Given the description of an element on the screen output the (x, y) to click on. 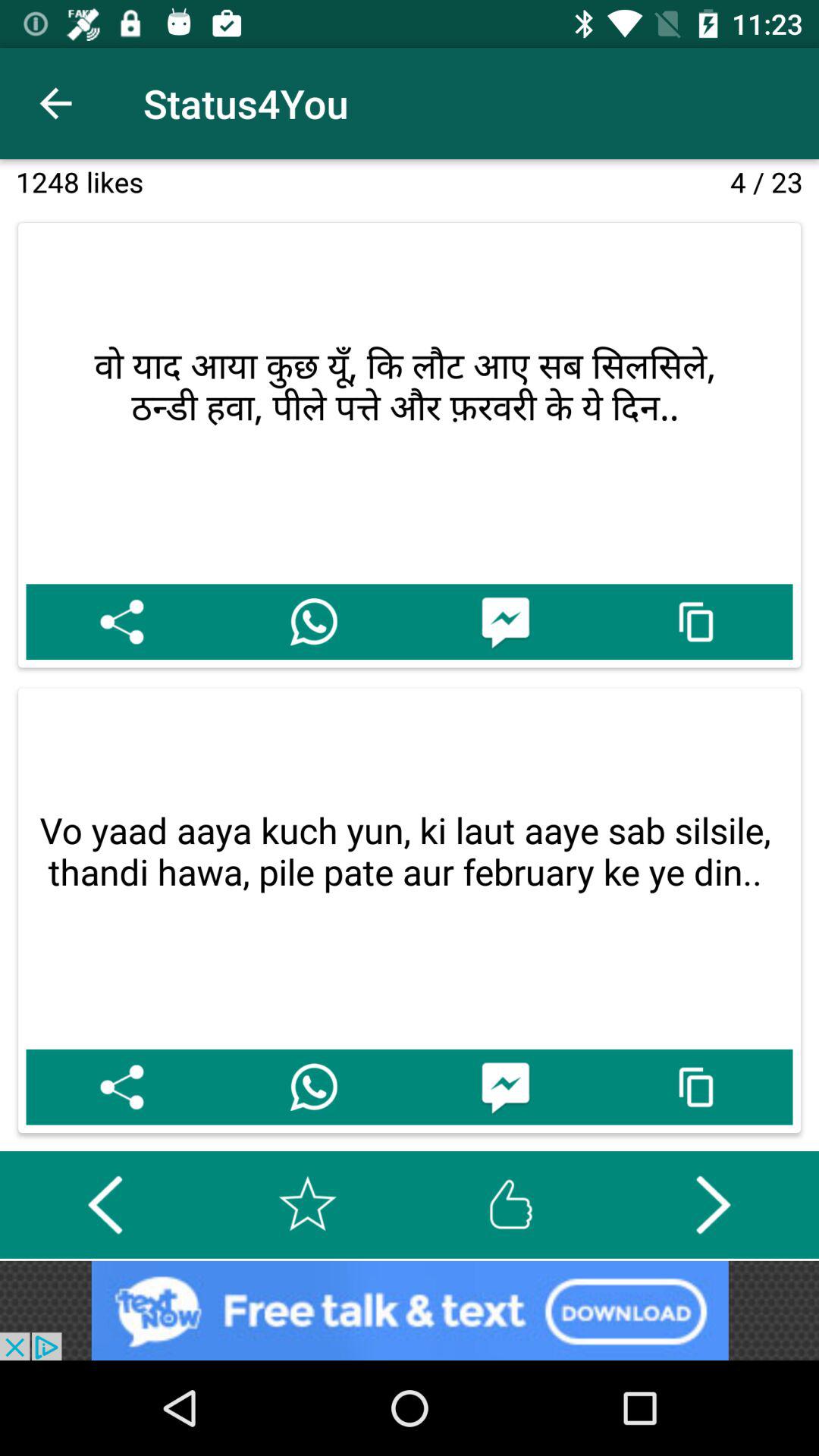
share content (121, 621)
